Given the description of an element on the screen output the (x, y) to click on. 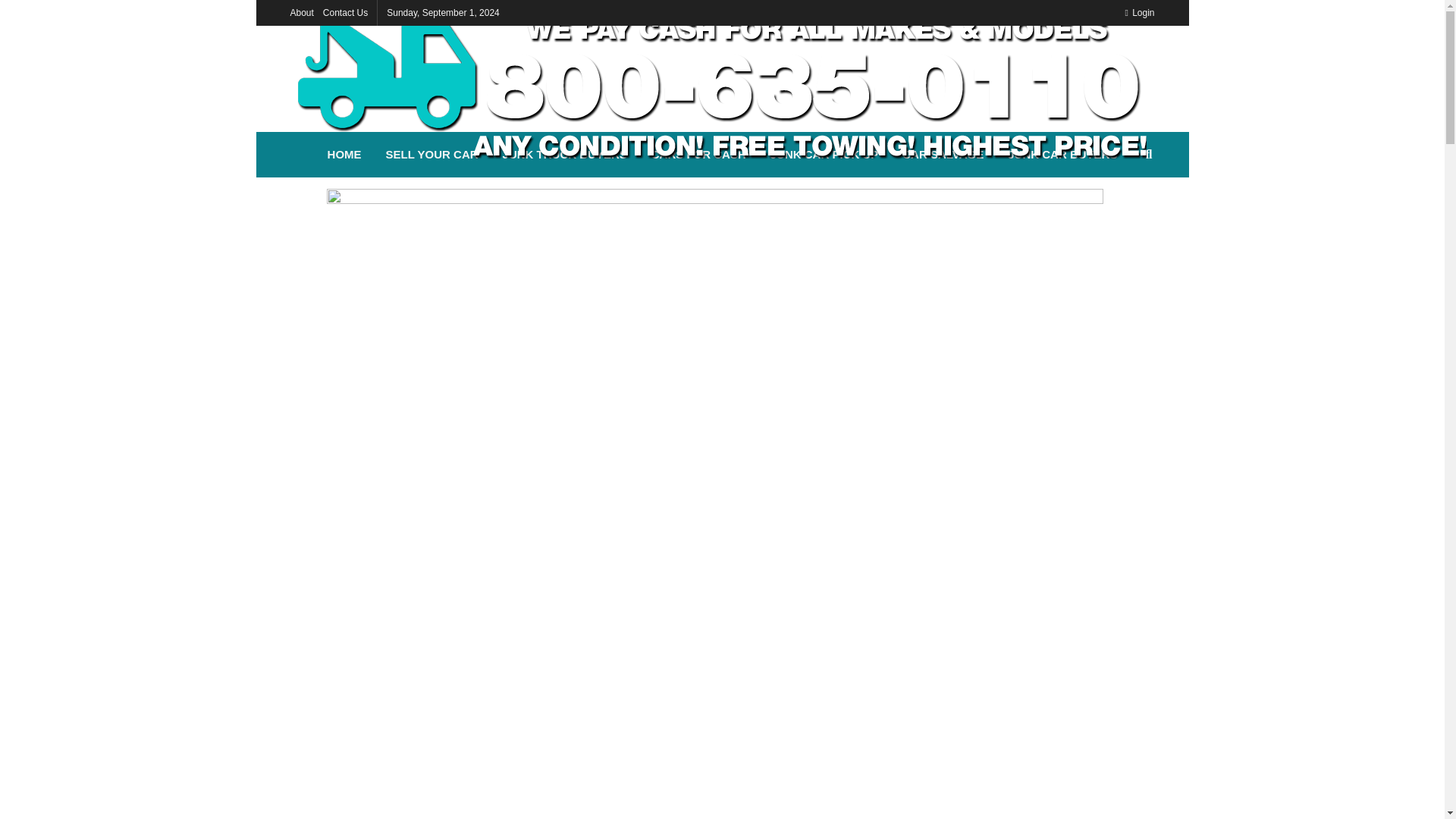
CAR SALVAGE (942, 154)
About (301, 12)
Login (1139, 12)
JUNK TRUCK BUYERS (564, 154)
SELL YOUR CAR (432, 154)
JUNK CAR PICK UP (824, 154)
Contact Us (345, 12)
CARS FOR CASH (698, 154)
JUNK CAR BUYERS (1062, 154)
HOME (344, 154)
